Given the description of an element on the screen output the (x, y) to click on. 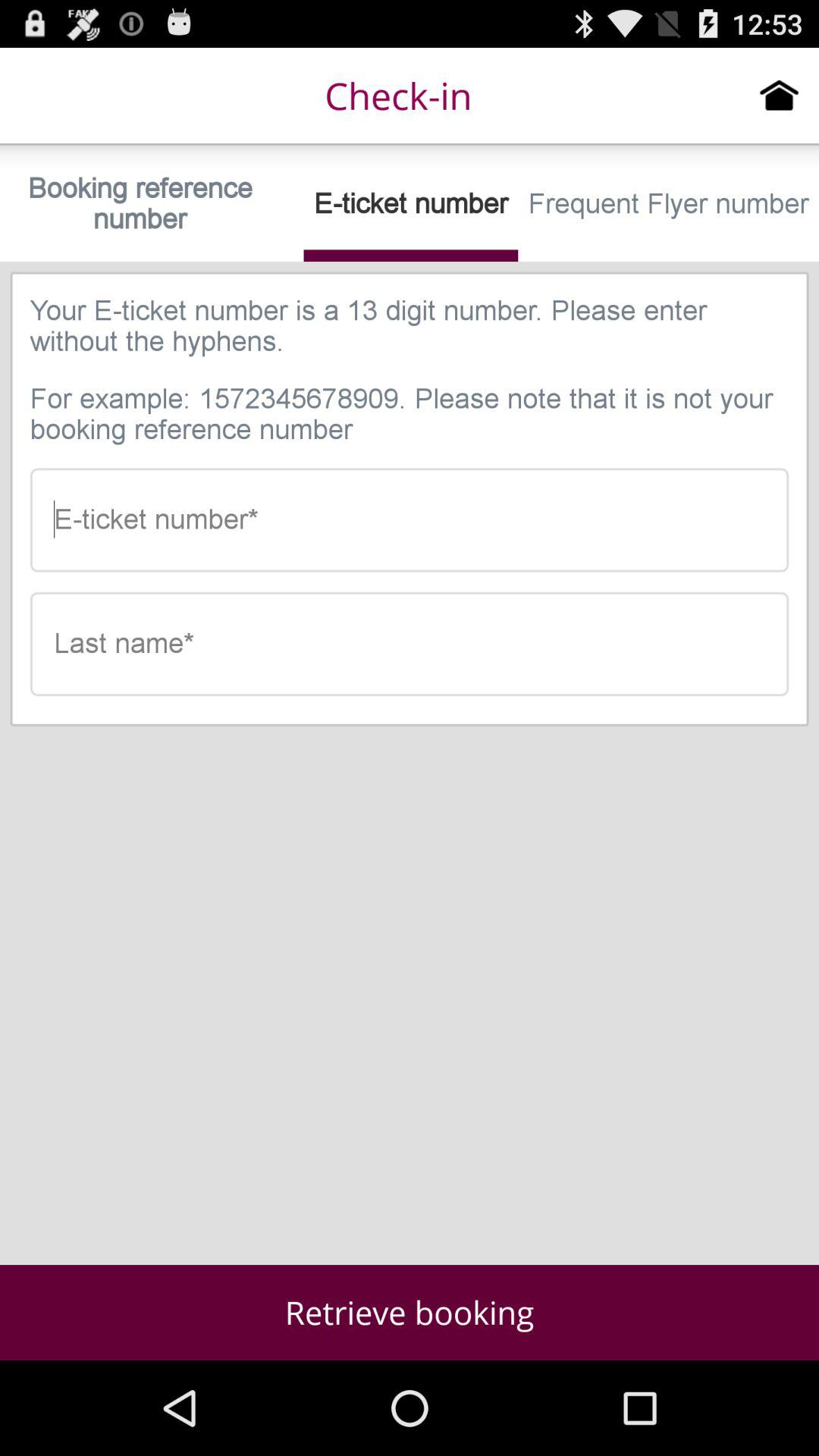
enter your last name (409, 643)
